Given the description of an element on the screen output the (x, y) to click on. 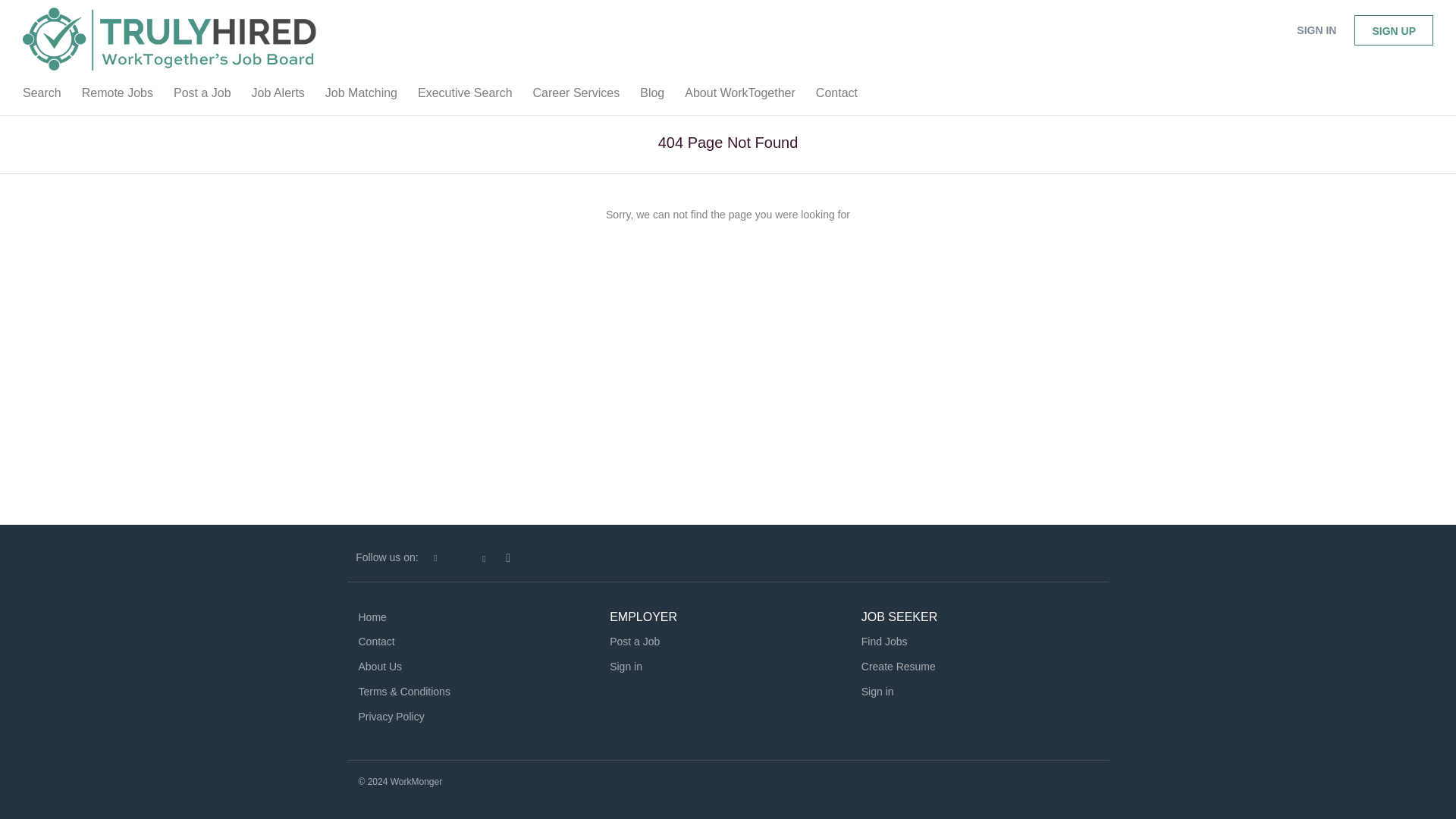
Privacy Policy (390, 716)
Search (41, 96)
Post a Job (201, 96)
Remote Jobs (117, 96)
Career Services (576, 96)
SIGN IN (1315, 30)
   Follow us on: (386, 557)
Create Resume (898, 666)
Executive Search (464, 96)
SIGN UP (1393, 30)
